Given the description of an element on the screen output the (x, y) to click on. 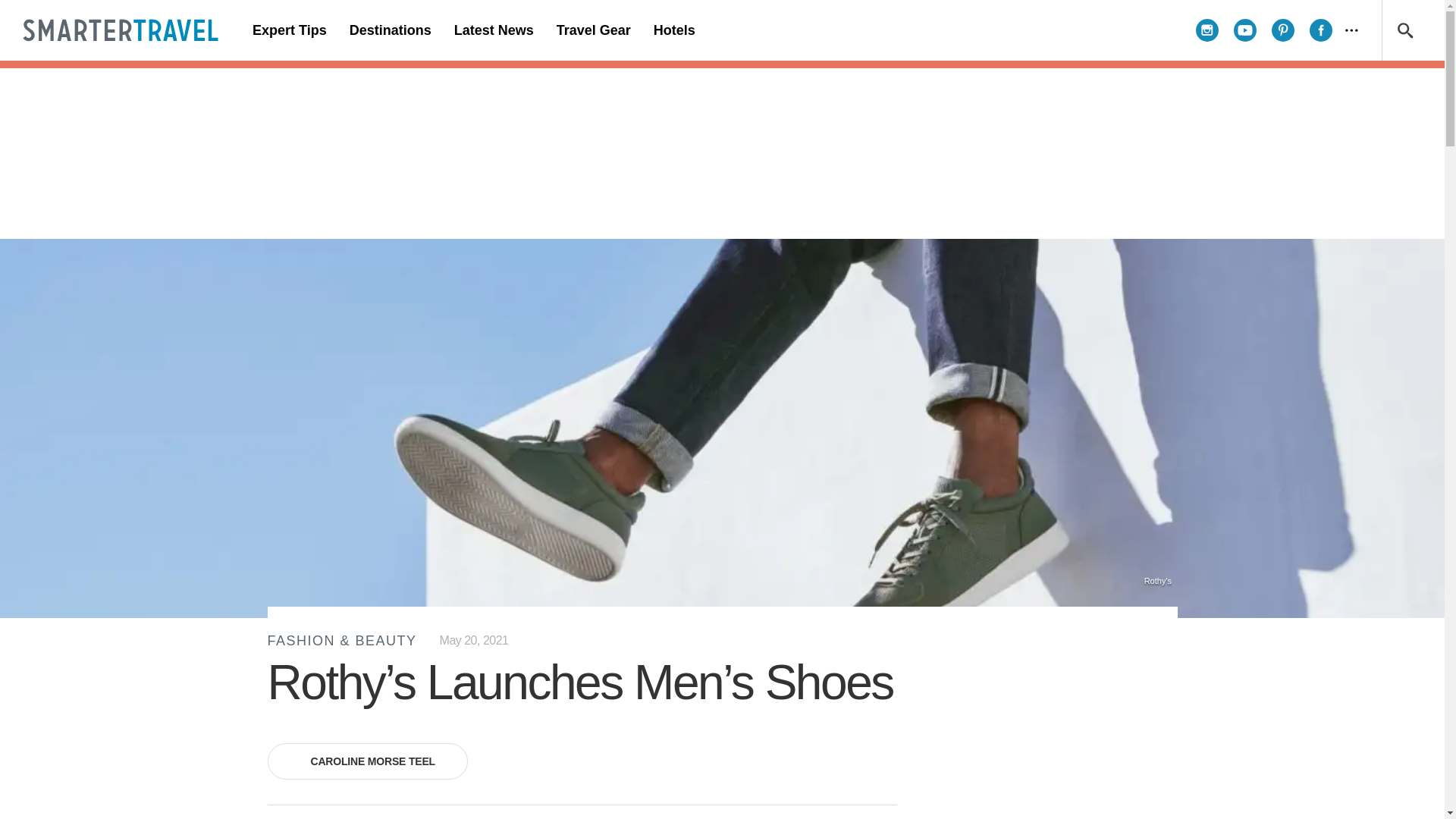
Travel Gear (593, 30)
Expert Tips (289, 30)
Hotels (674, 30)
Latest News (493, 30)
Destinations (389, 30)
